Given the description of an element on the screen output the (x, y) to click on. 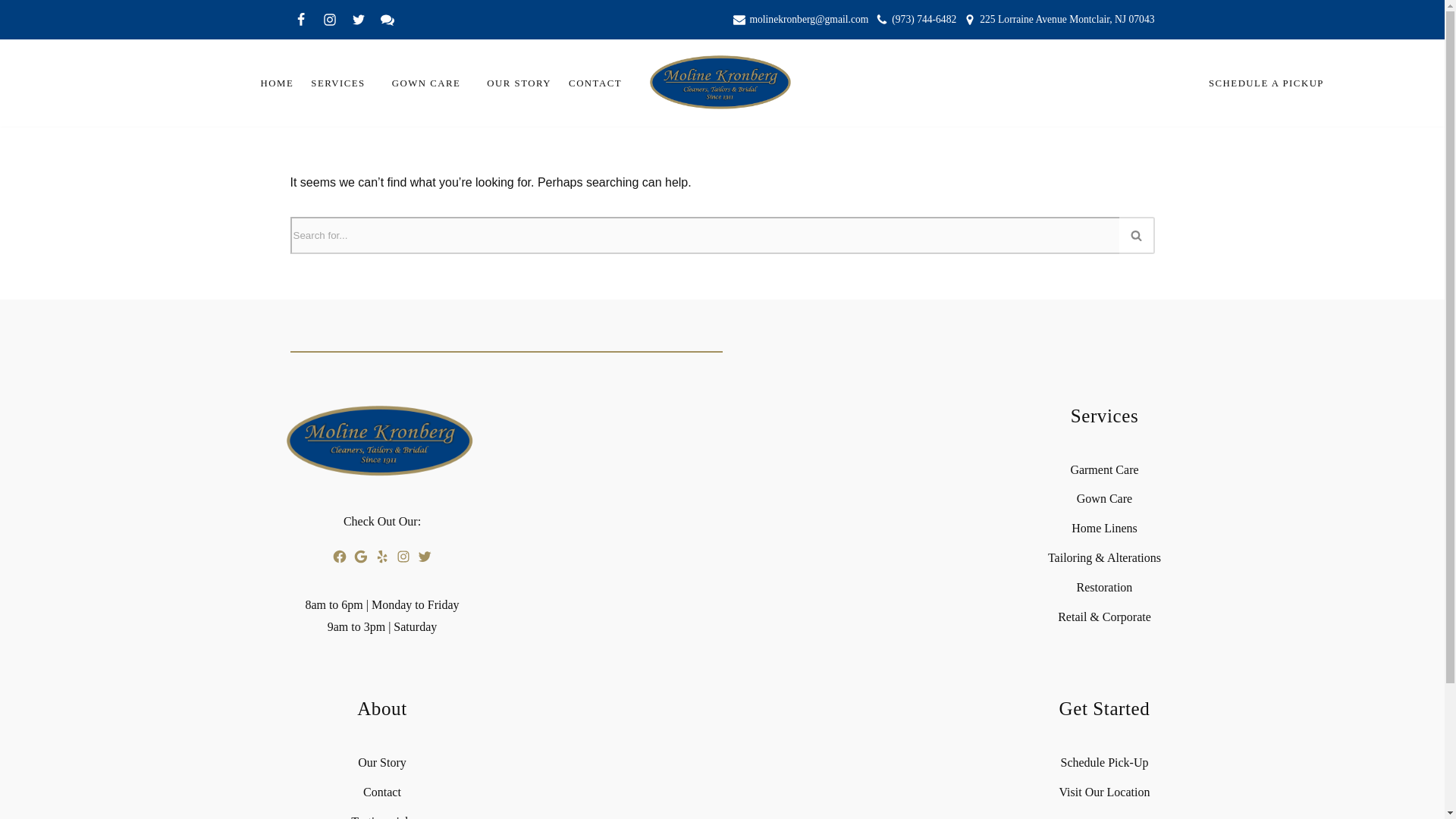
Instagram (328, 19)
Twitter (357, 19)
SERVICES (338, 82)
Facebook (300, 19)
OUR STORY (518, 82)
SCHEDULE A PICKUP (1265, 82)
Google (386, 19)
HOME (277, 82)
GOWN CARE (426, 82)
Skip to content (11, 31)
CONTACT (595, 82)
